Given the description of an element on the screen output the (x, y) to click on. 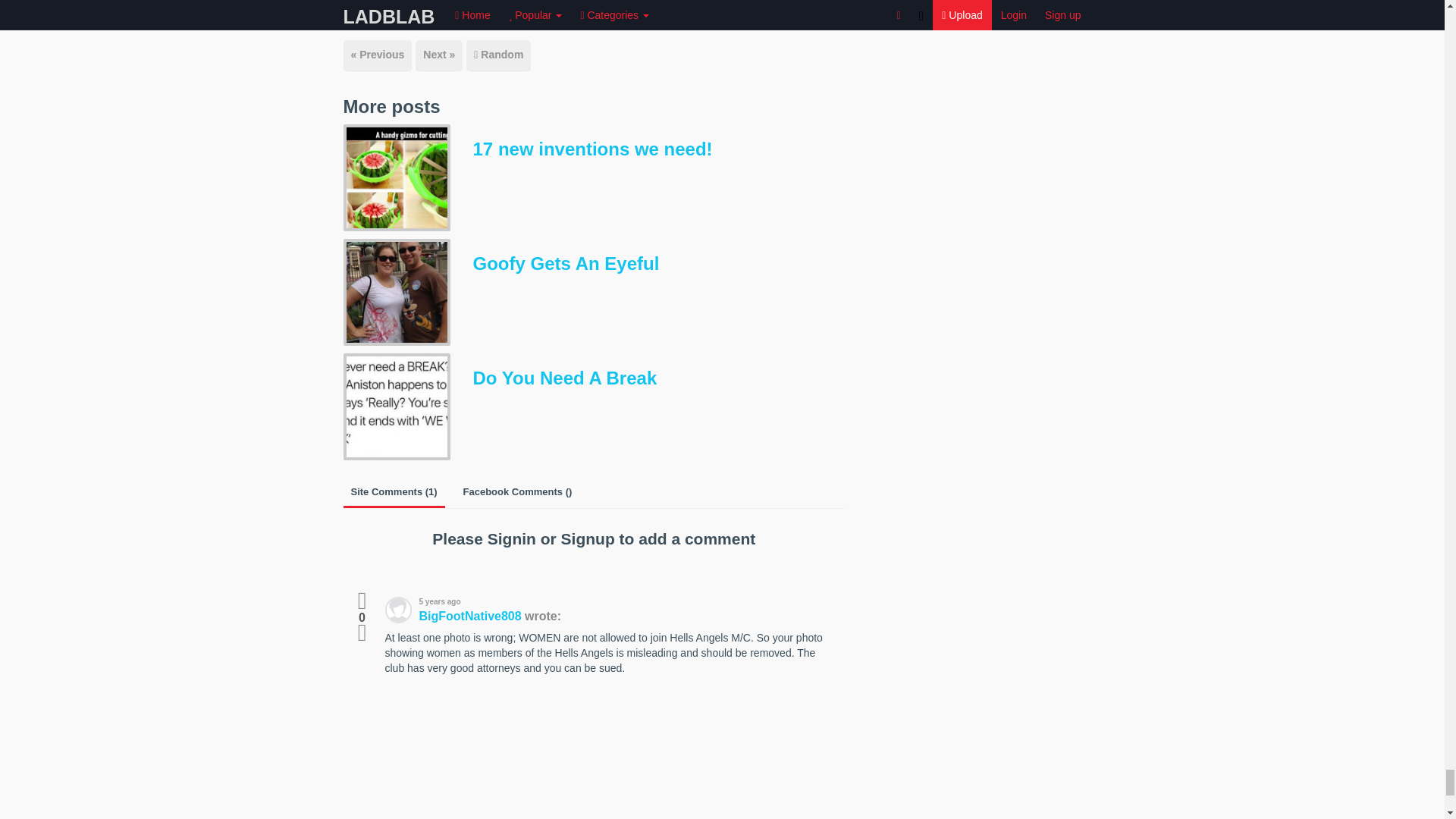
May 5, 2019, 11:46 pm (489, 602)
Pin It (547, 14)
Share on Google Plus (486, 14)
Share on Facebook (365, 14)
Share on Twitter (425, 14)
